Given the description of an element on the screen output the (x, y) to click on. 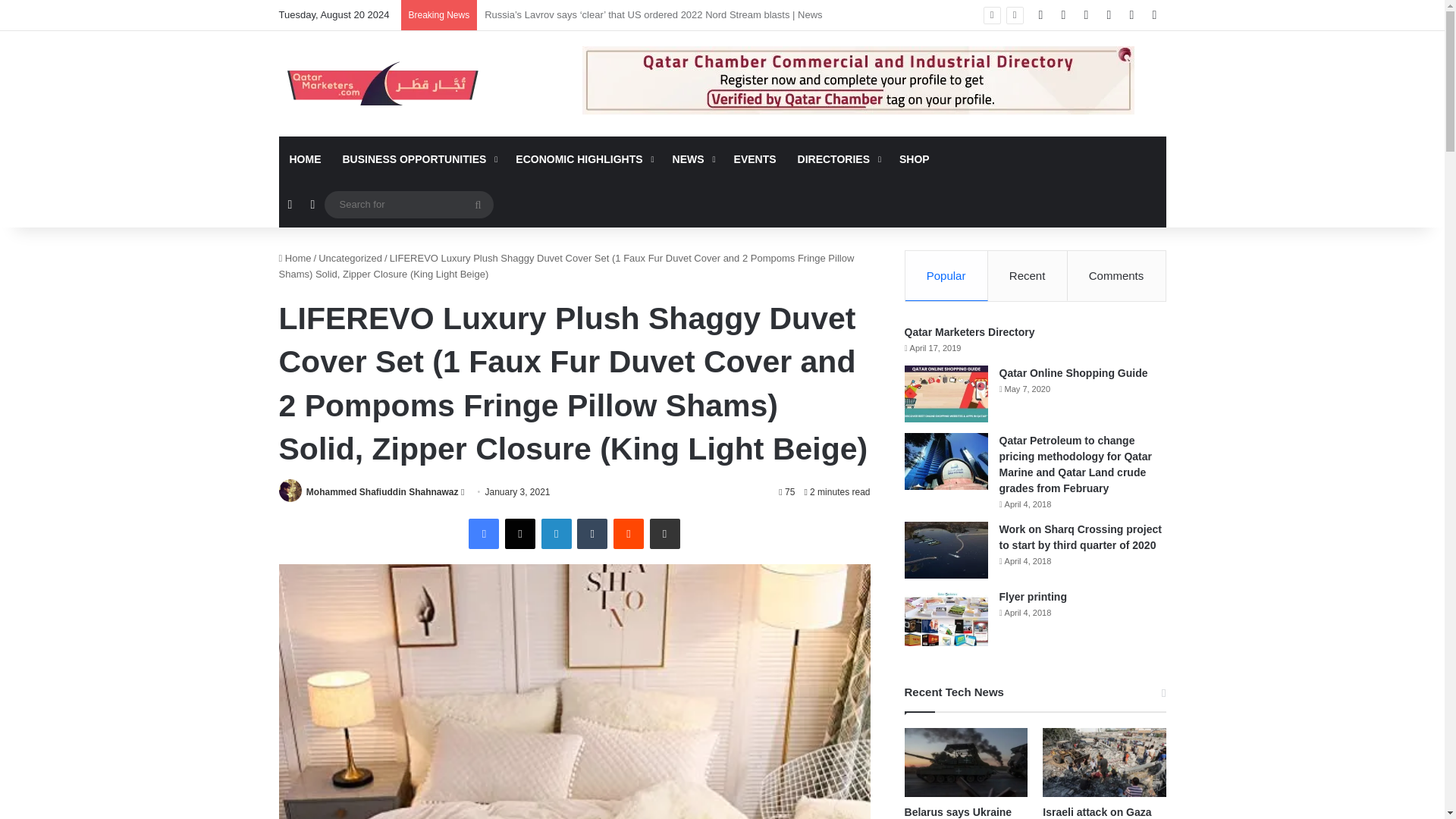
Tumblr (591, 533)
SHOP (914, 158)
DIRECTORIES (837, 158)
Share via Email (664, 533)
Search for (478, 204)
Qatar Marketers (381, 83)
BUSINESS OPPORTUNITIES (418, 158)
Reddit (627, 533)
Search for (408, 203)
EVENTS (755, 158)
